Given the description of an element on the screen output the (x, y) to click on. 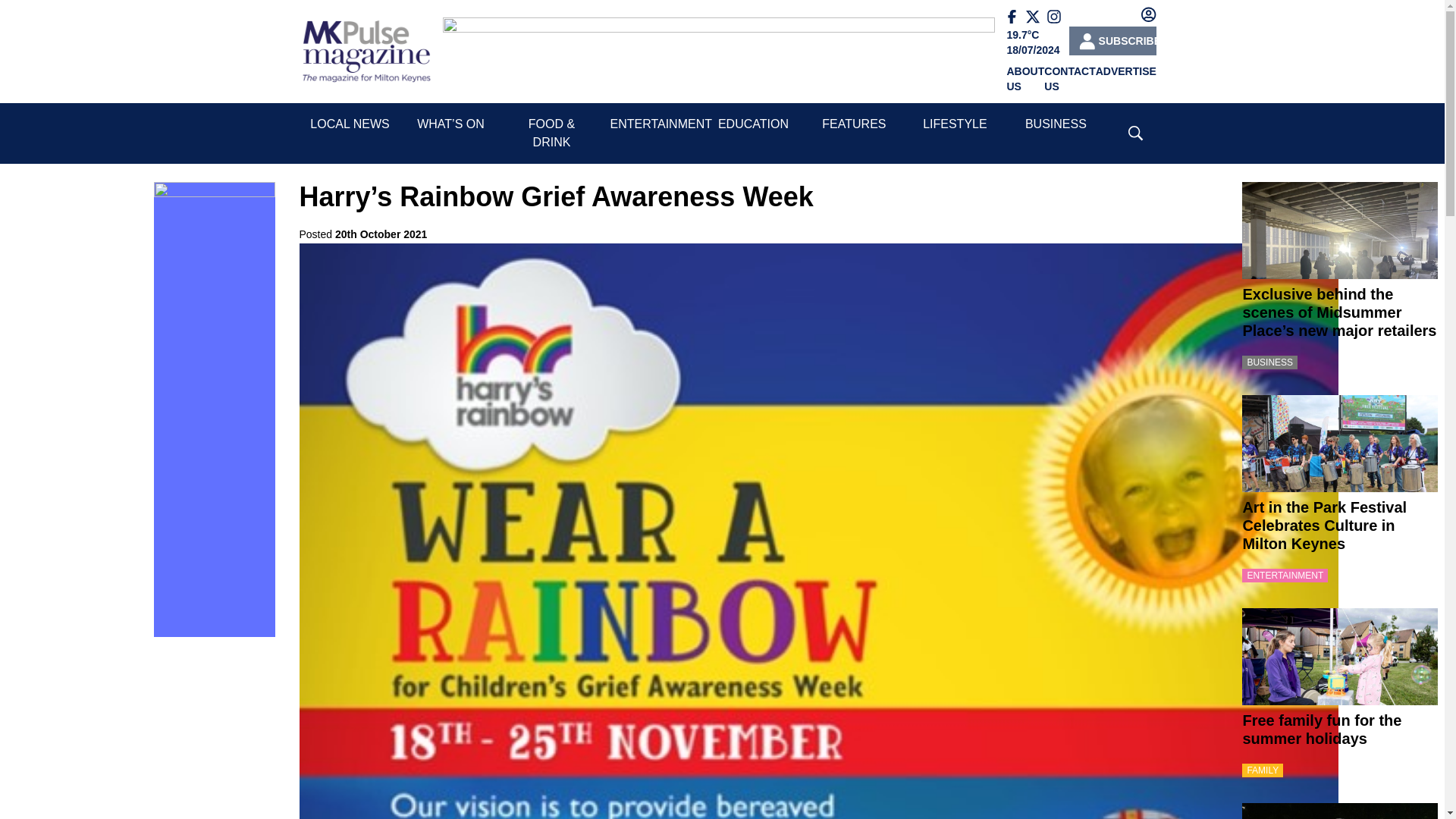
Follow us on Facebook (1016, 16)
ADVERTISE (1126, 70)
SUBSCRIBE (1112, 40)
Follow us on Instagram (1056, 16)
FEATURES (853, 123)
LIFESTYLE (955, 123)
CONTACT US (1068, 78)
BUSINESS (1055, 123)
Home (365, 51)
LOCAL NEWS (349, 123)
EDUCATION (753, 123)
ABOUT US (1026, 78)
Follow us on X (1035, 16)
ENTERTAINMENT (660, 123)
